Given the description of an element on the screen output the (x, y) to click on. 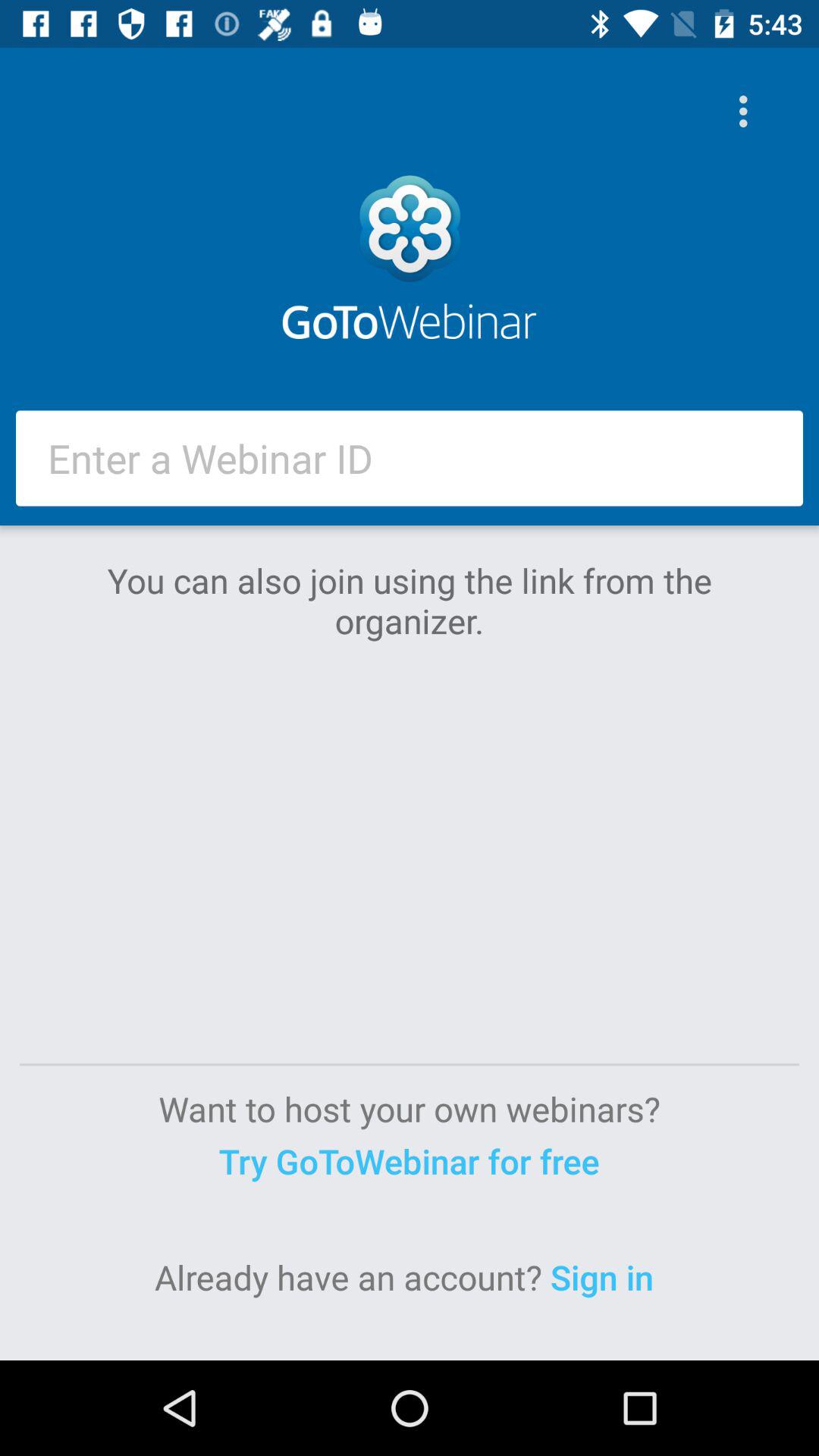
click item to the right of already have an (606, 1276)
